Given the description of an element on the screen output the (x, y) to click on. 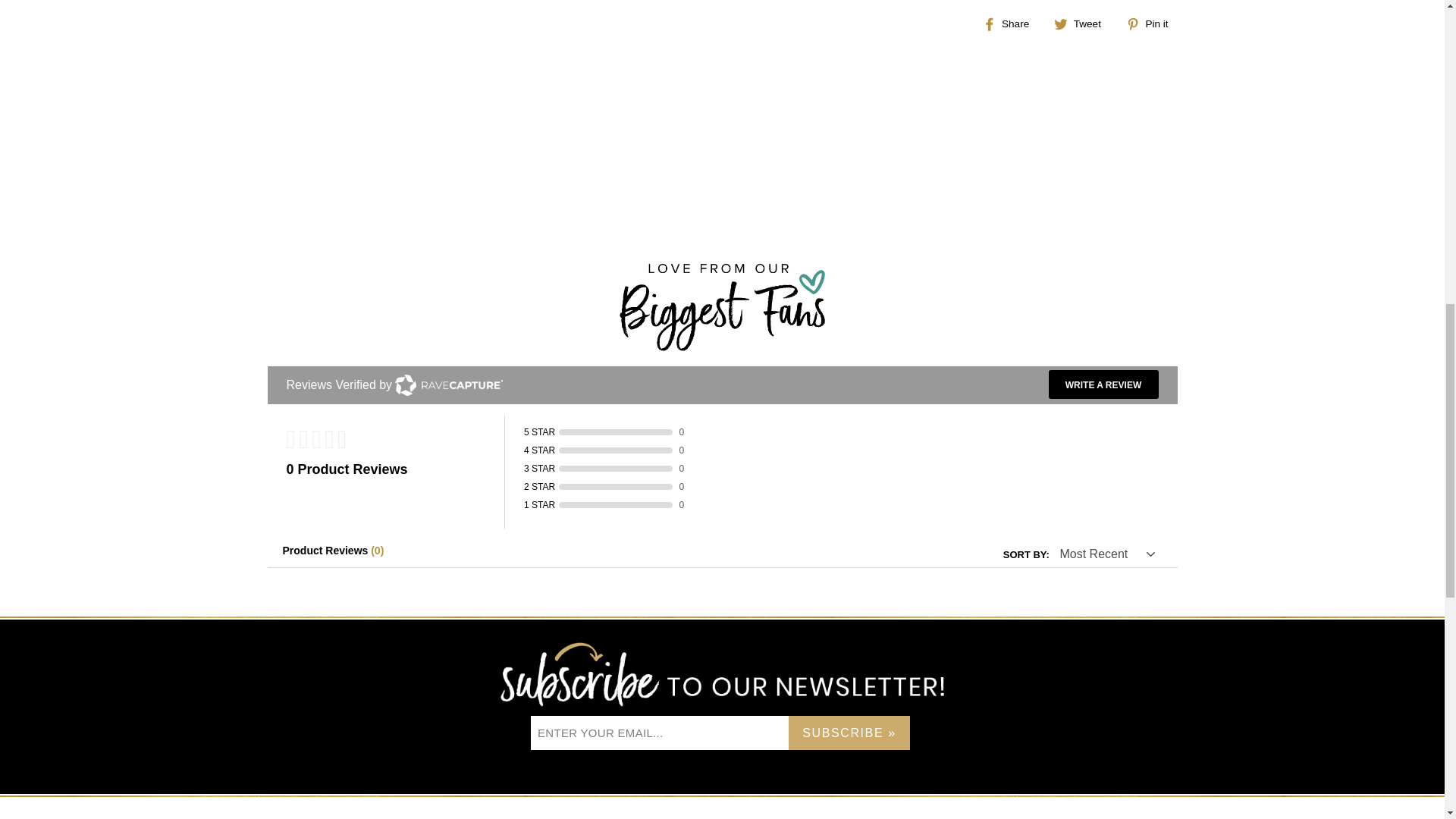
Write review (1102, 384)
Tweet on Twitter (1083, 24)
0 stars (395, 439)
Pin on Pinterest (1152, 24)
Share on Facebook (1011, 24)
RaveCapture Logo (448, 384)
